Given the description of an element on the screen output the (x, y) to click on. 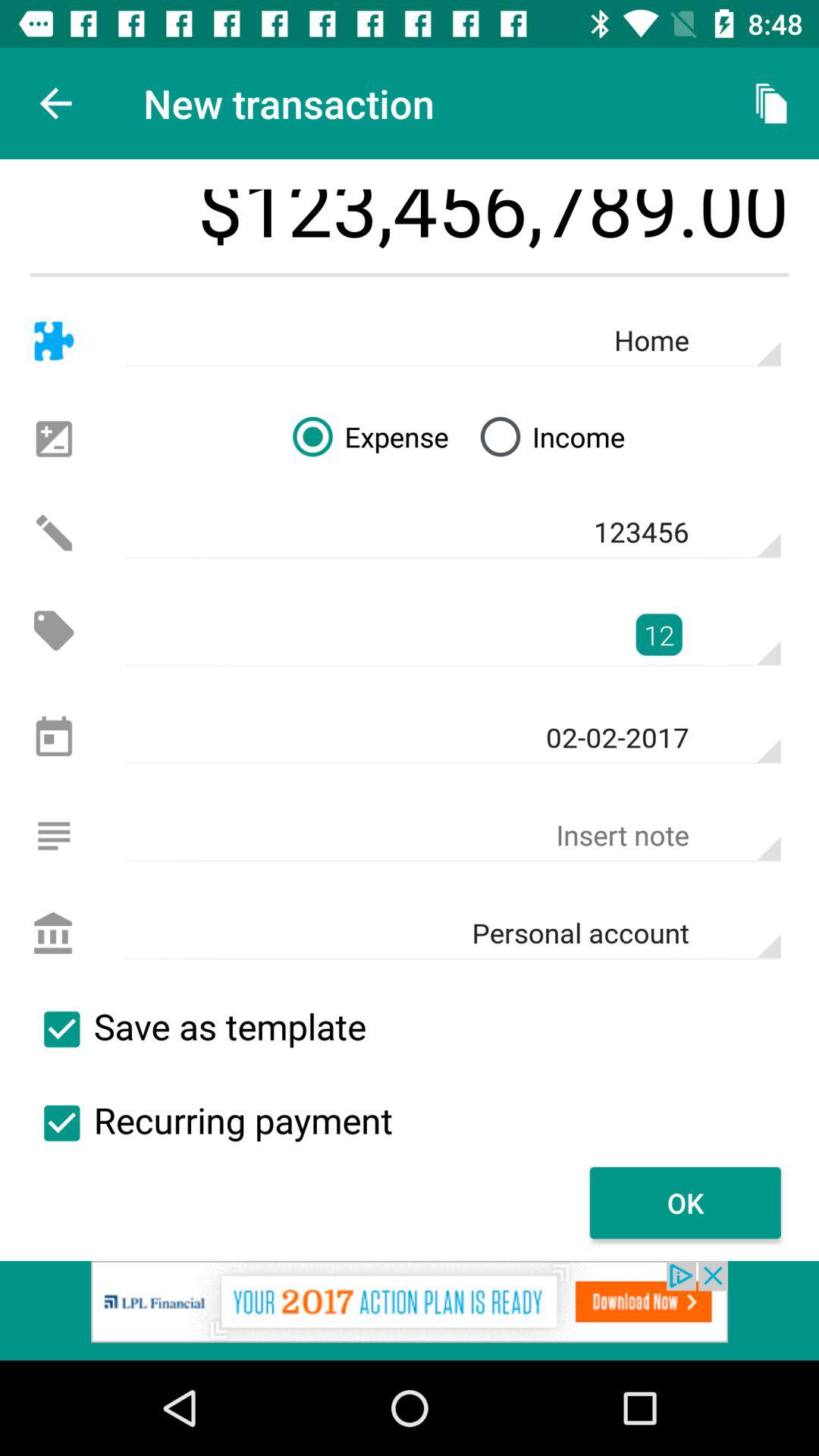
edits (53, 532)
